Given the description of an element on the screen output the (x, y) to click on. 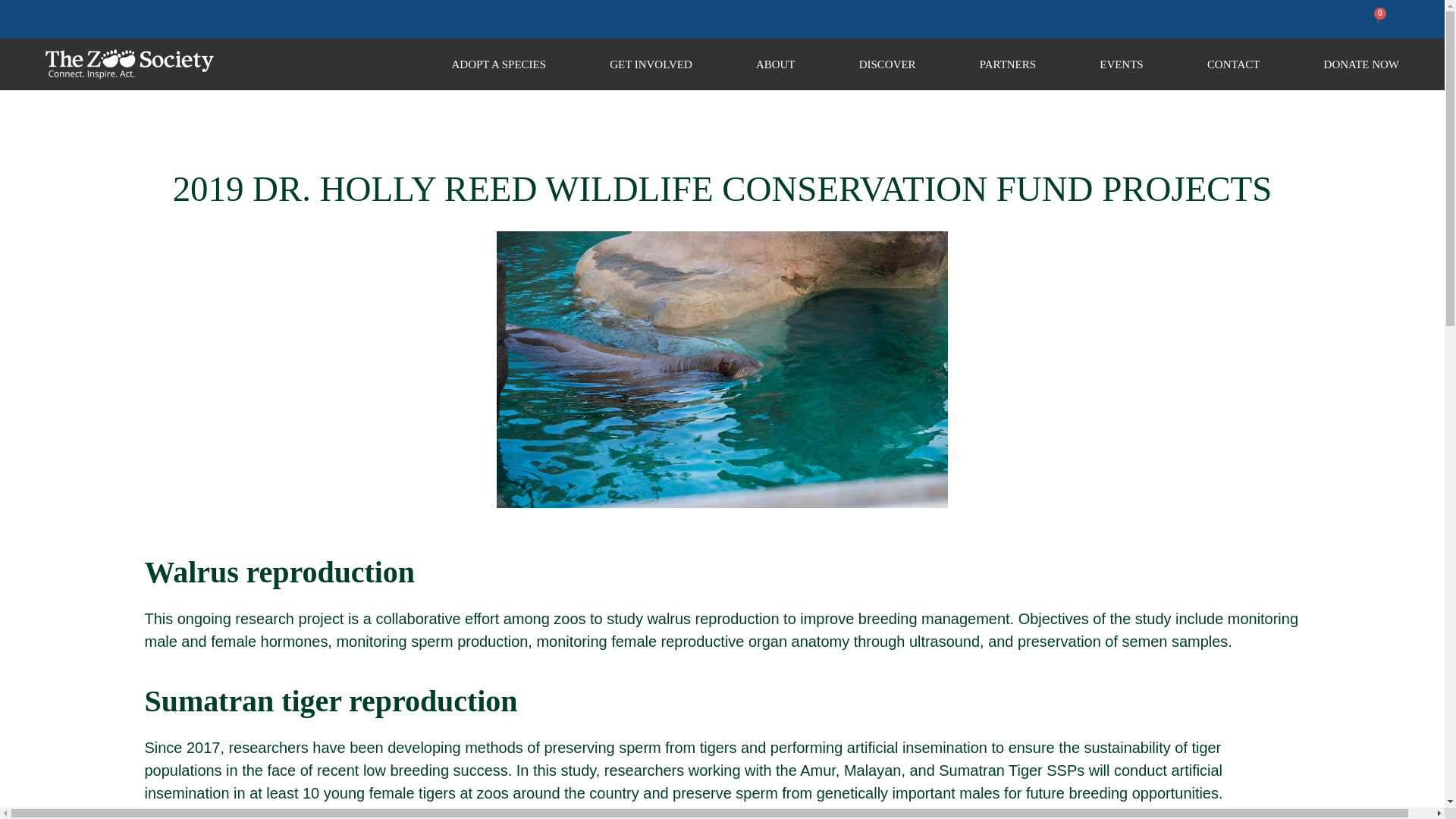
GET INVOLVED (651, 63)
0 (1378, 19)
EVENTS (1120, 63)
DISCOVER (887, 63)
ADOPT A SPECIES (498, 63)
CONTACT (1233, 63)
PARTNERS (1007, 63)
DONATE NOW (1361, 63)
ABOUT (774, 63)
